Given the description of an element on the screen output the (x, y) to click on. 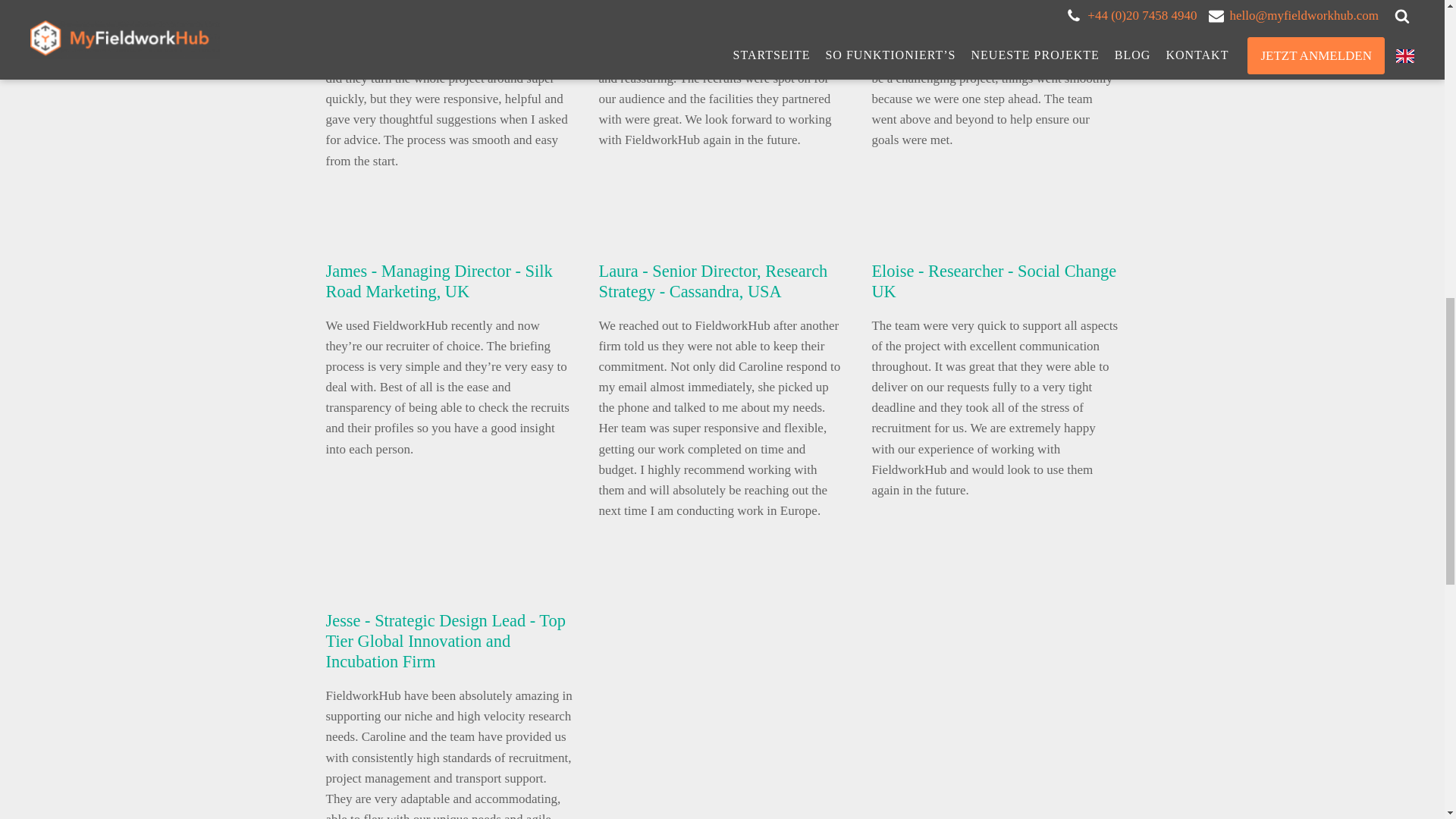
James - Managing Director - Silk Road Marketing, UK (439, 281)
